Given the description of an element on the screen output the (x, y) to click on. 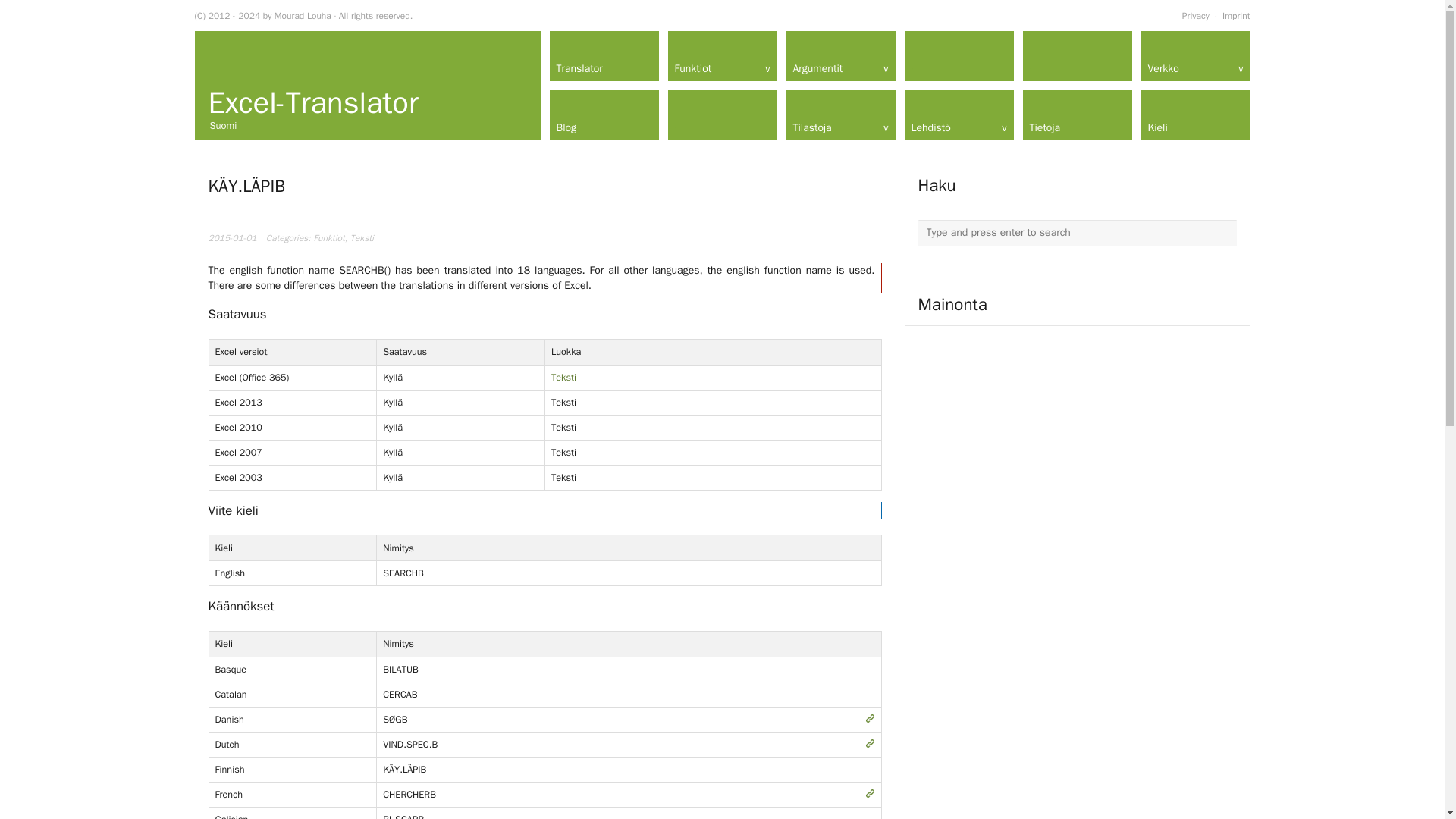
Teksti (563, 377)
Argumentit (840, 56)
Translator (603, 56)
Privacy (1195, 15)
Kieli (1194, 115)
Funktiot (721, 56)
Blog (603, 115)
Excel-Translator (312, 102)
Tietoja (1076, 115)
Tilastoja (840, 115)
